Given the description of an element on the screen output the (x, y) to click on. 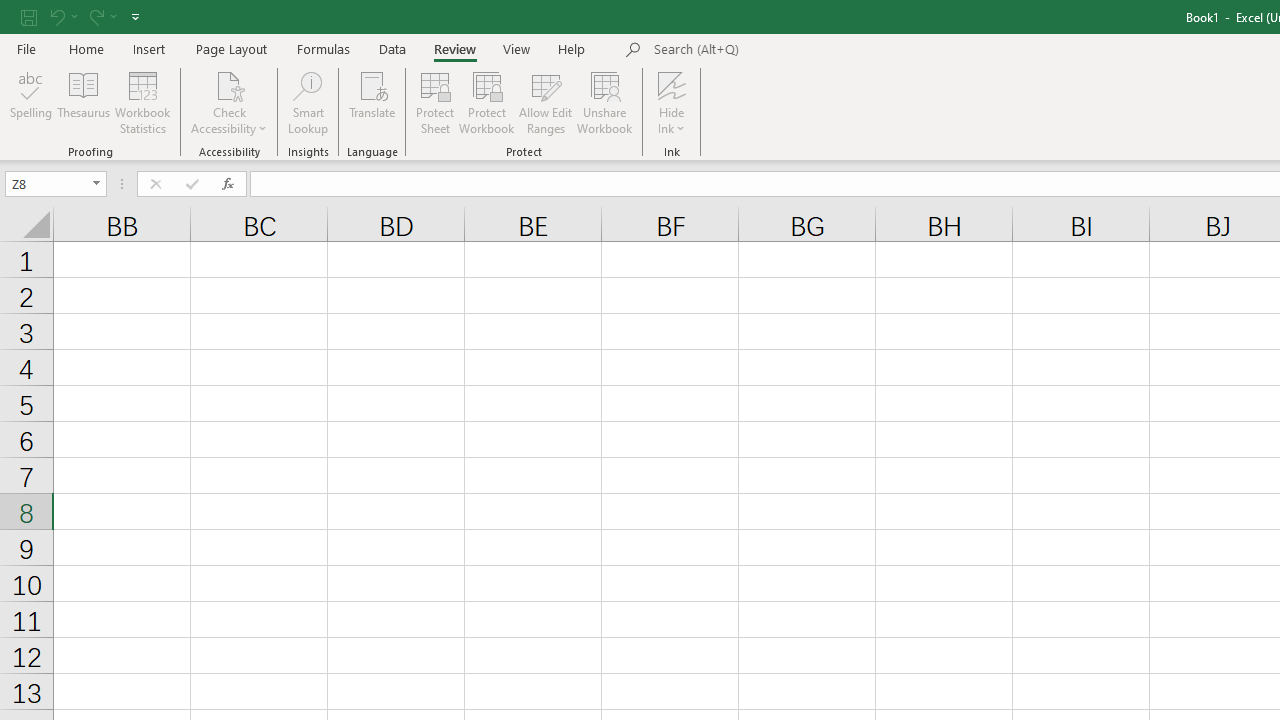
Check Accessibility (229, 84)
Hide Ink (671, 102)
Allow Edit Ranges (545, 102)
Spelling... (31, 102)
Protect Sheet... (434, 102)
